Given the description of an element on the screen output the (x, y) to click on. 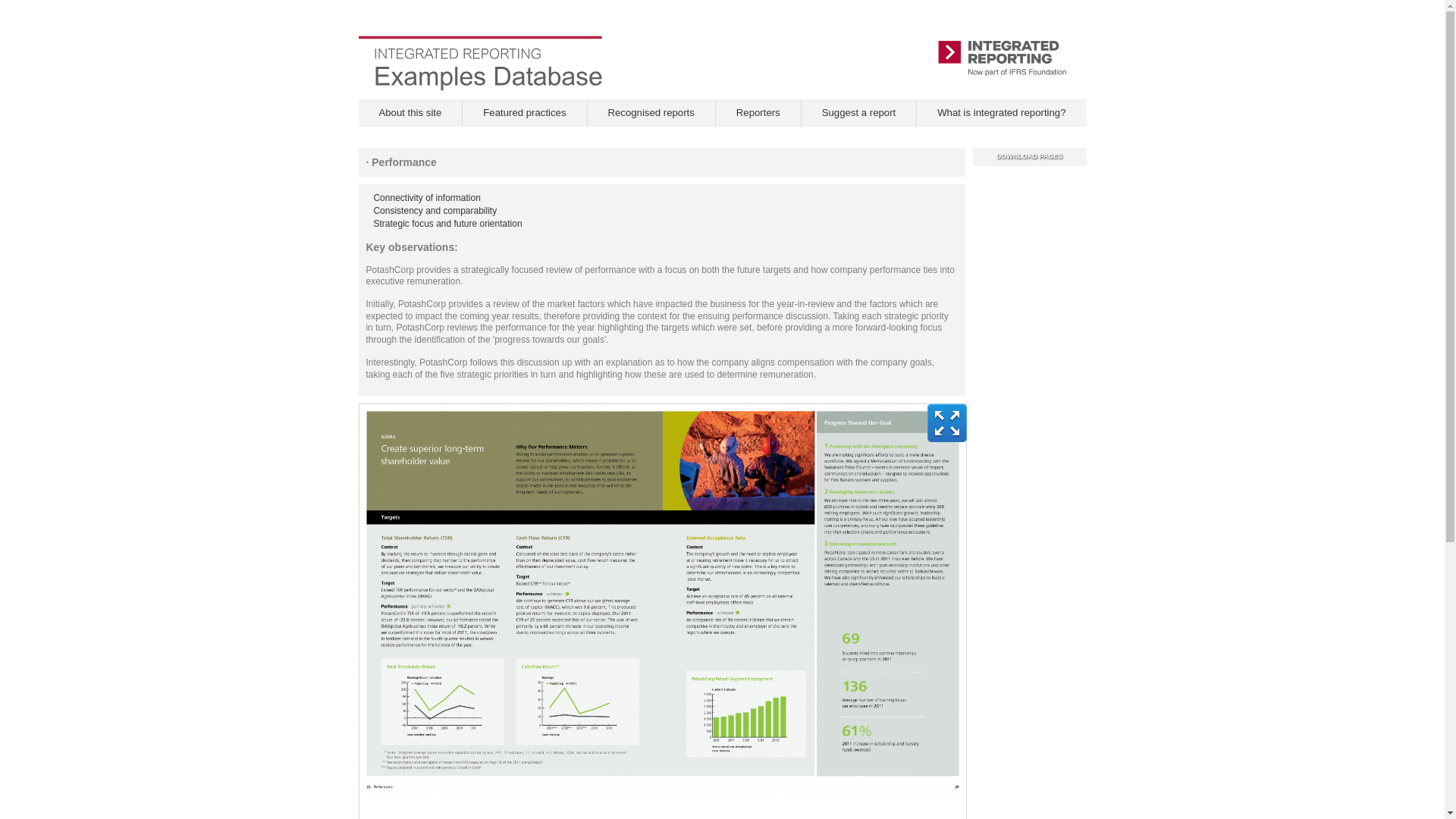
Suggest a report (858, 112)
the page will open in a new window (1001, 112)
Featured practices (524, 112)
About this site (409, 112)
Reporters (758, 112)
the PDF document will open in a new window (1029, 156)
Recognised reports (650, 112)
DOWNLOAD PAGES (1029, 156)
What is integrated reporting? (1001, 112)
